Given the description of an element on the screen output the (x, y) to click on. 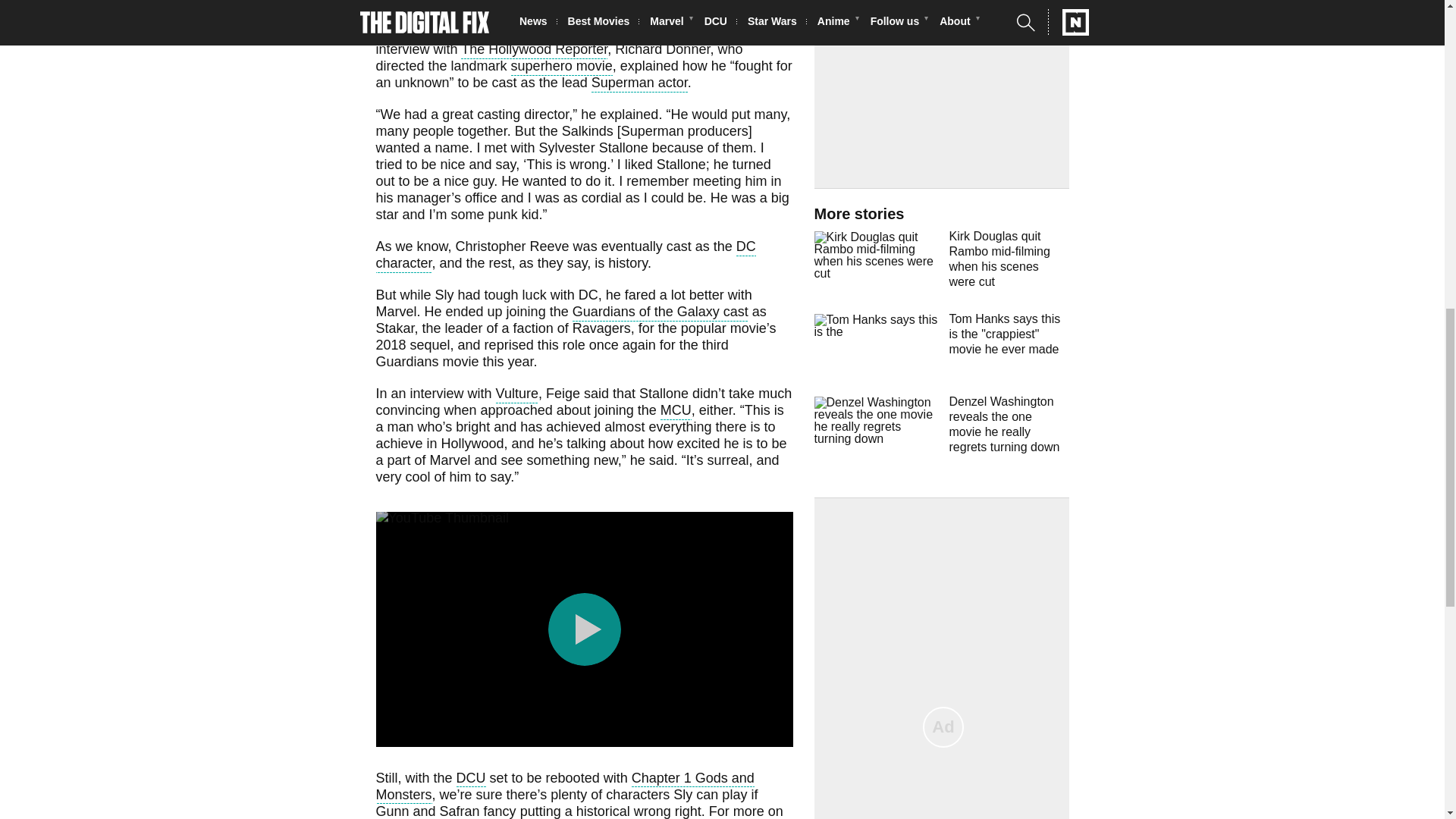
Sylvester Stallone (734, 5)
The Hollywood Reporter (534, 50)
superhero movie (561, 67)
